Given the description of an element on the screen output the (x, y) to click on. 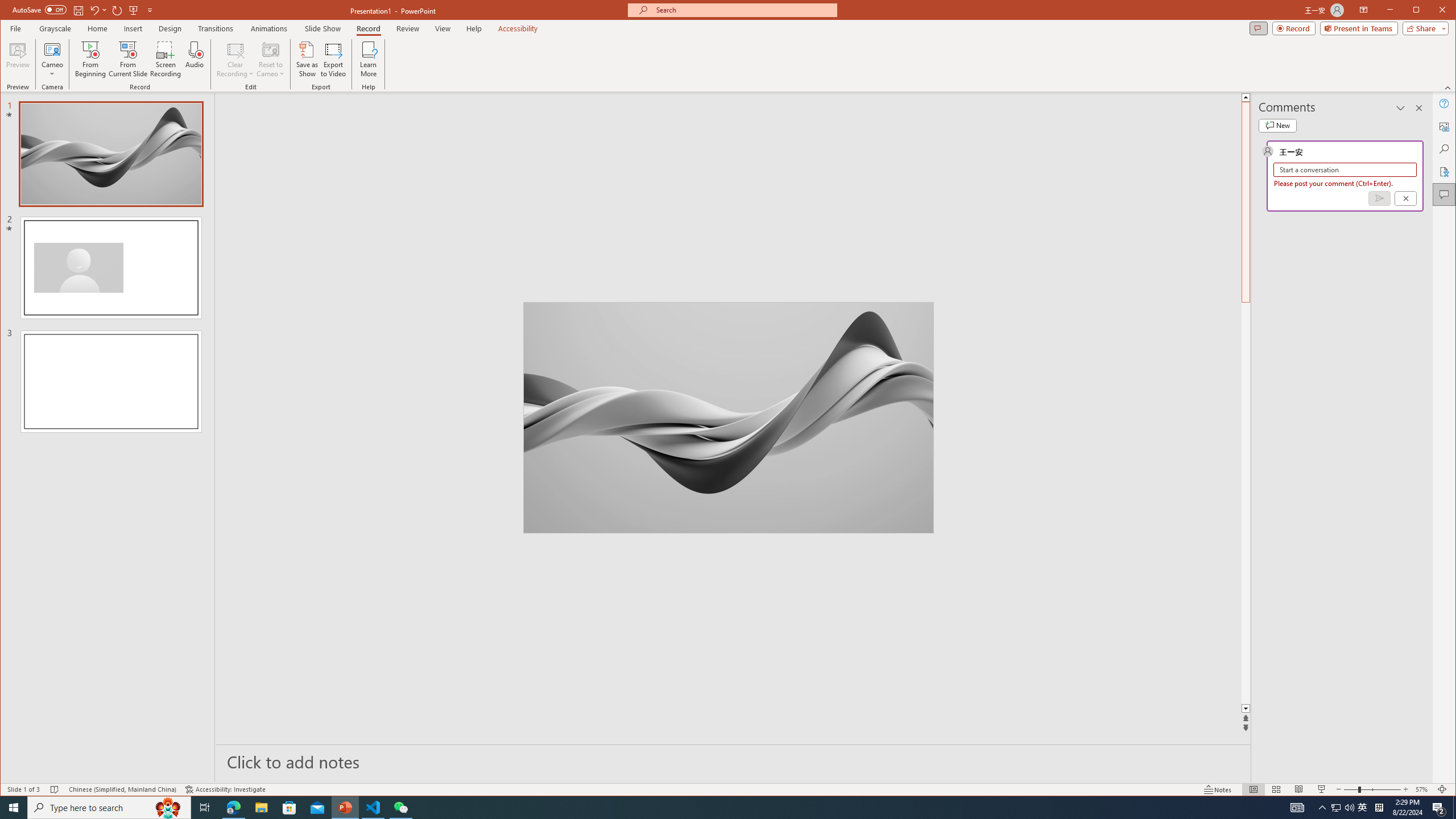
WeChat - 1 running window (400, 807)
Cancel (1405, 197)
Learn More (368, 59)
Zoom 57% (1422, 789)
From Beginning... (90, 59)
